Given the description of an element on the screen output the (x, y) to click on. 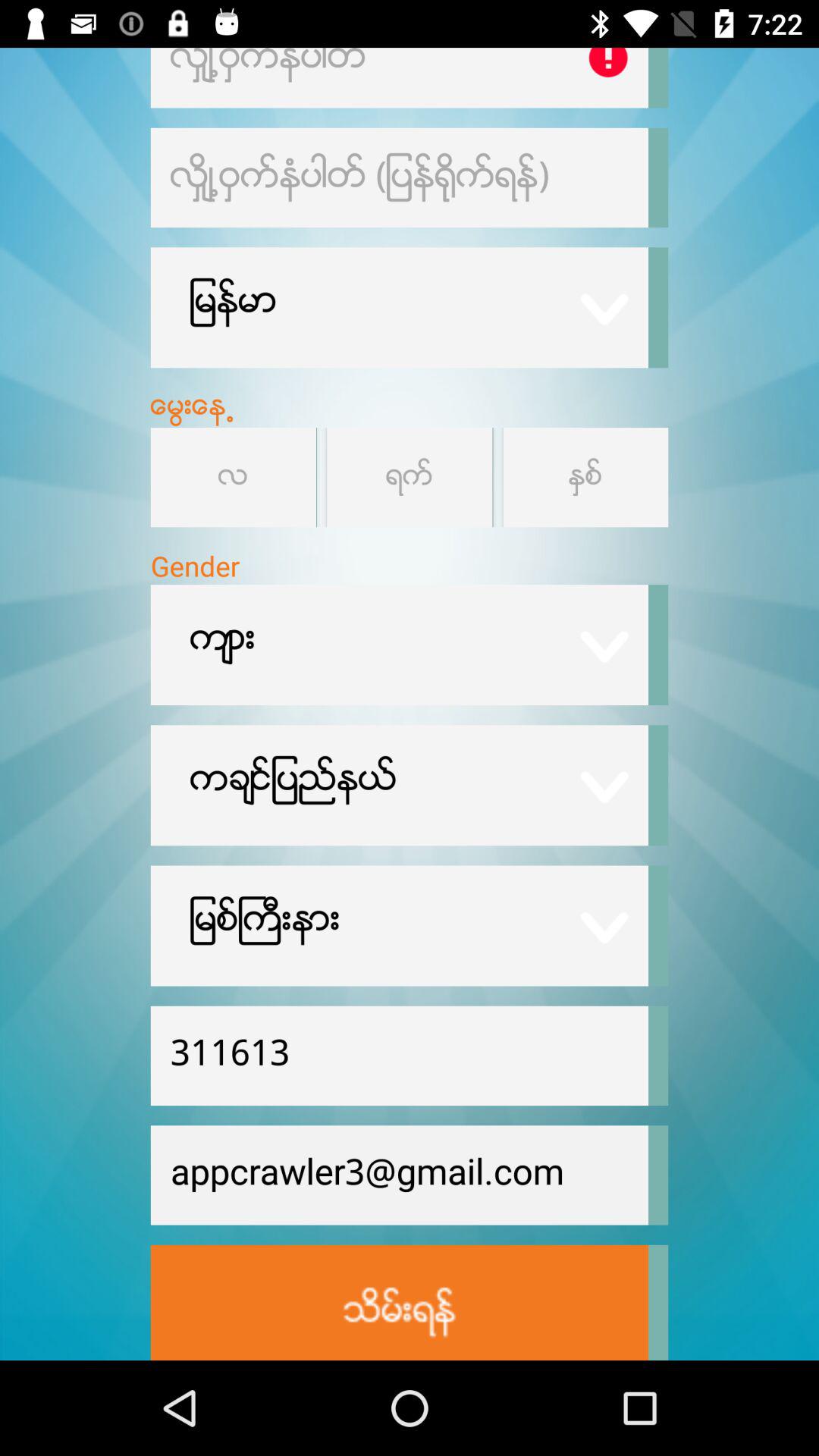
change a profile setting (585, 477)
